Given the description of an element on the screen output the (x, y) to click on. 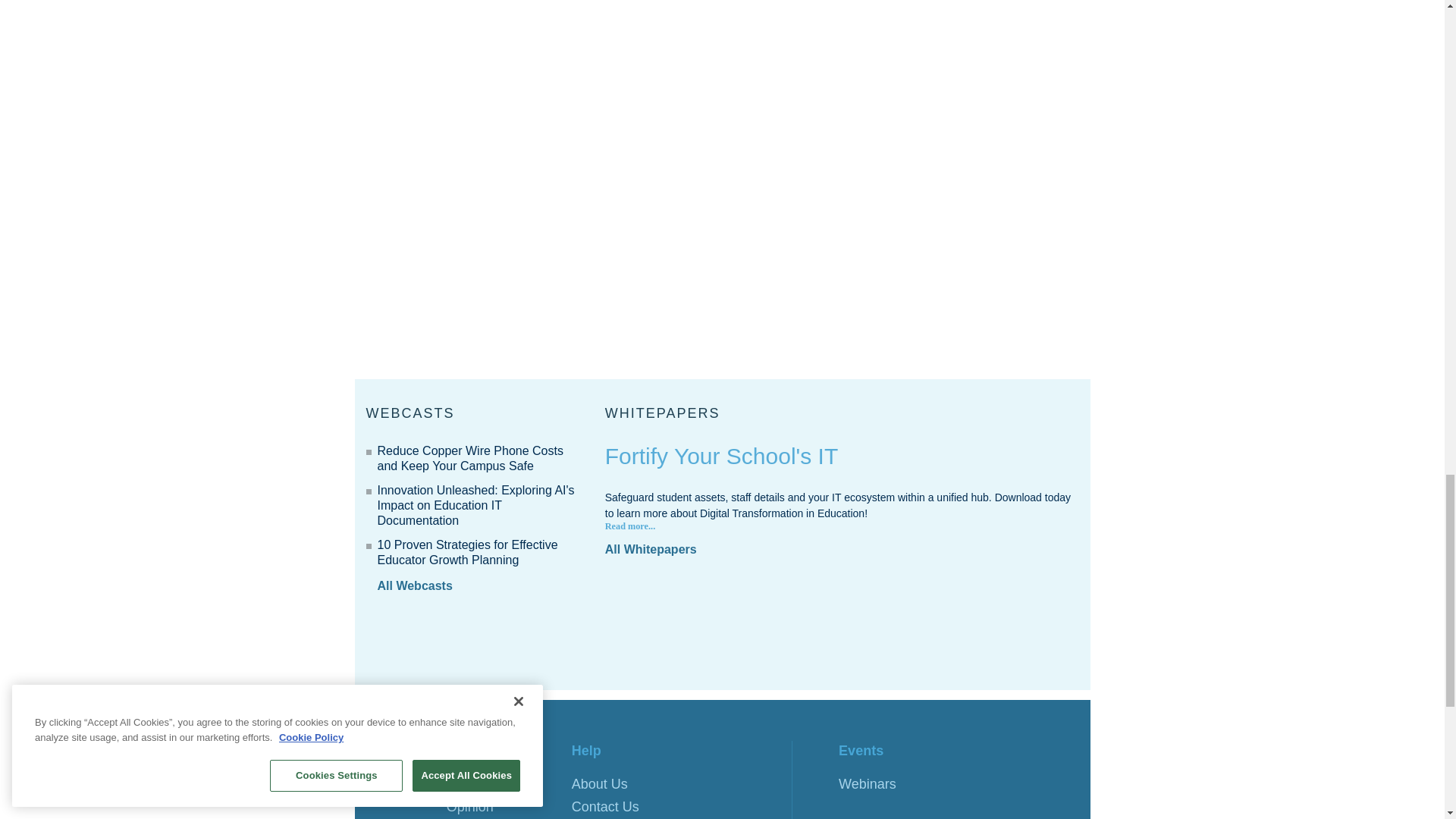
3rd party ad content (721, 640)
